Given the description of an element on the screen output the (x, y) to click on. 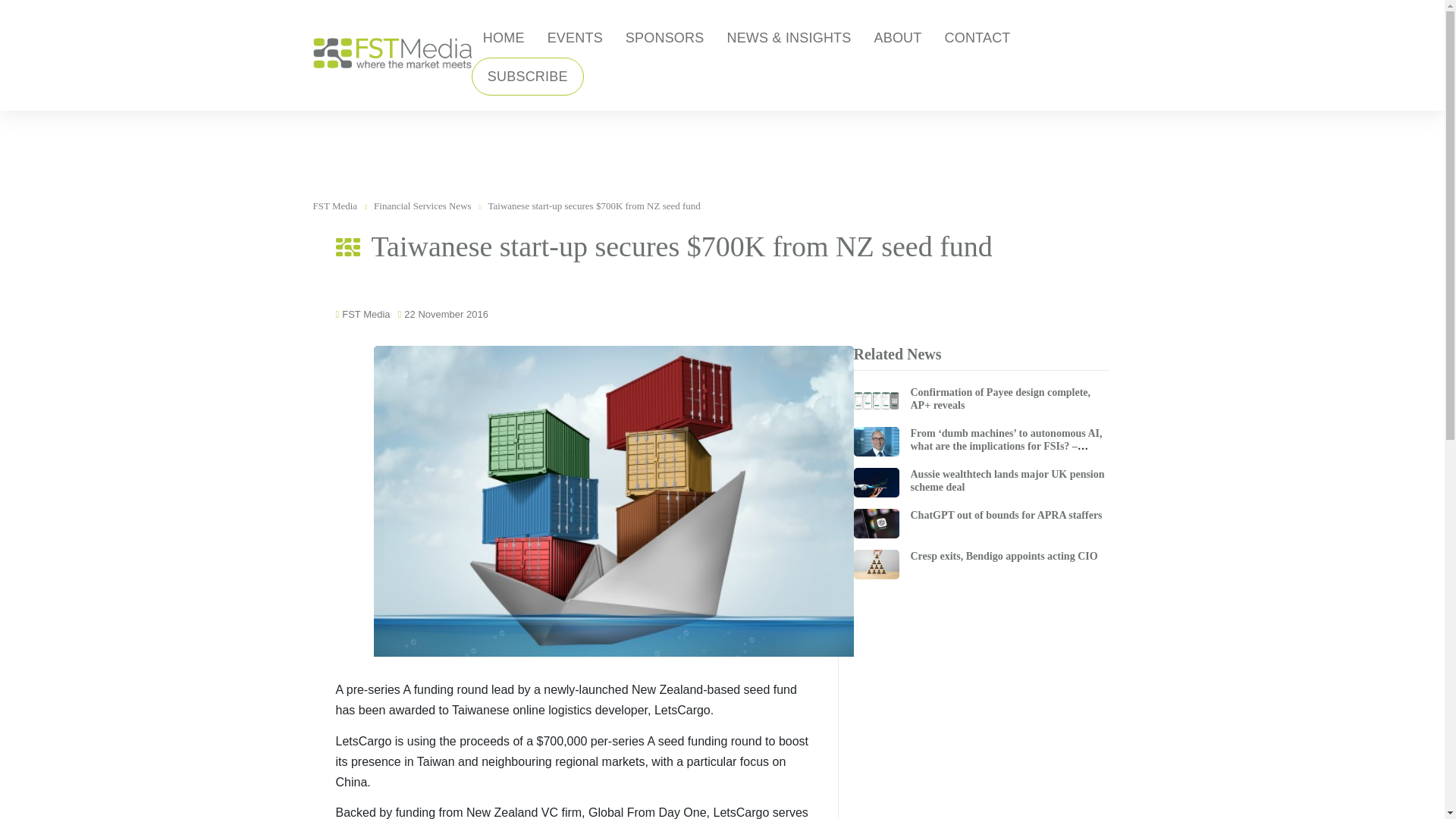
CONTACT (977, 37)
FST Media (391, 52)
ChatGPT out of bounds for APRA staffers (1006, 514)
Go to the Financial Services News category archives. (422, 205)
EVENTS (574, 37)
Go to FST Media. (334, 205)
HOME (503, 37)
SUBSCRIBE (527, 76)
SPONSORS (665, 37)
ABOUT (897, 37)
